Given the description of an element on the screen output the (x, y) to click on. 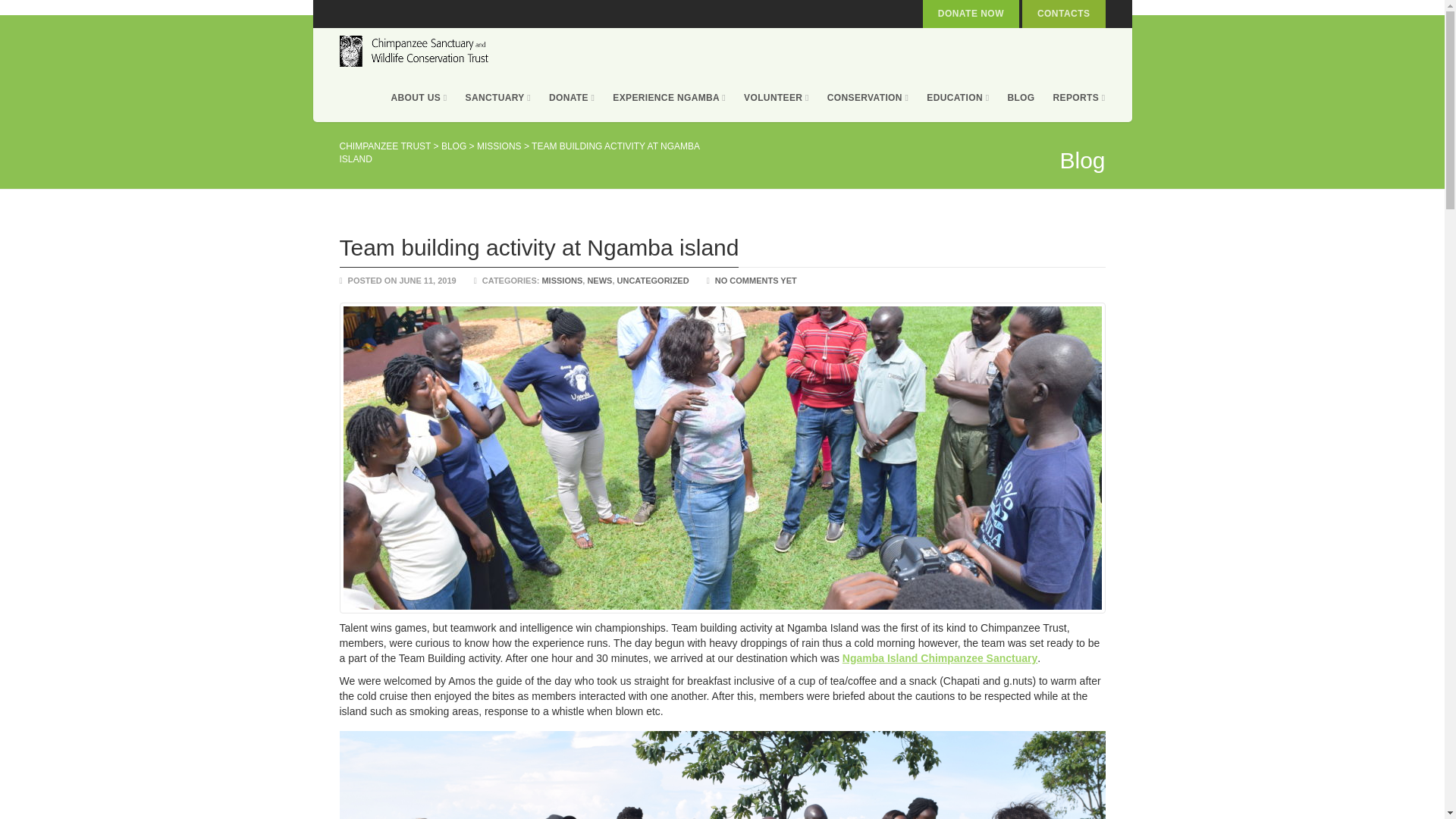
VOLUNTEER (776, 98)
DONATE NOW (971, 13)
SANCTUARY (498, 98)
Chimpanzee Trust (415, 51)
Go to Chimpanzee Trust. (384, 145)
EDUCATION (957, 98)
EXPERIENCE NGAMBA (669, 98)
DONATE (572, 98)
Go to the Missions Category archives. (499, 145)
CONTACTS (1063, 13)
